Given the description of an element on the screen output the (x, y) to click on. 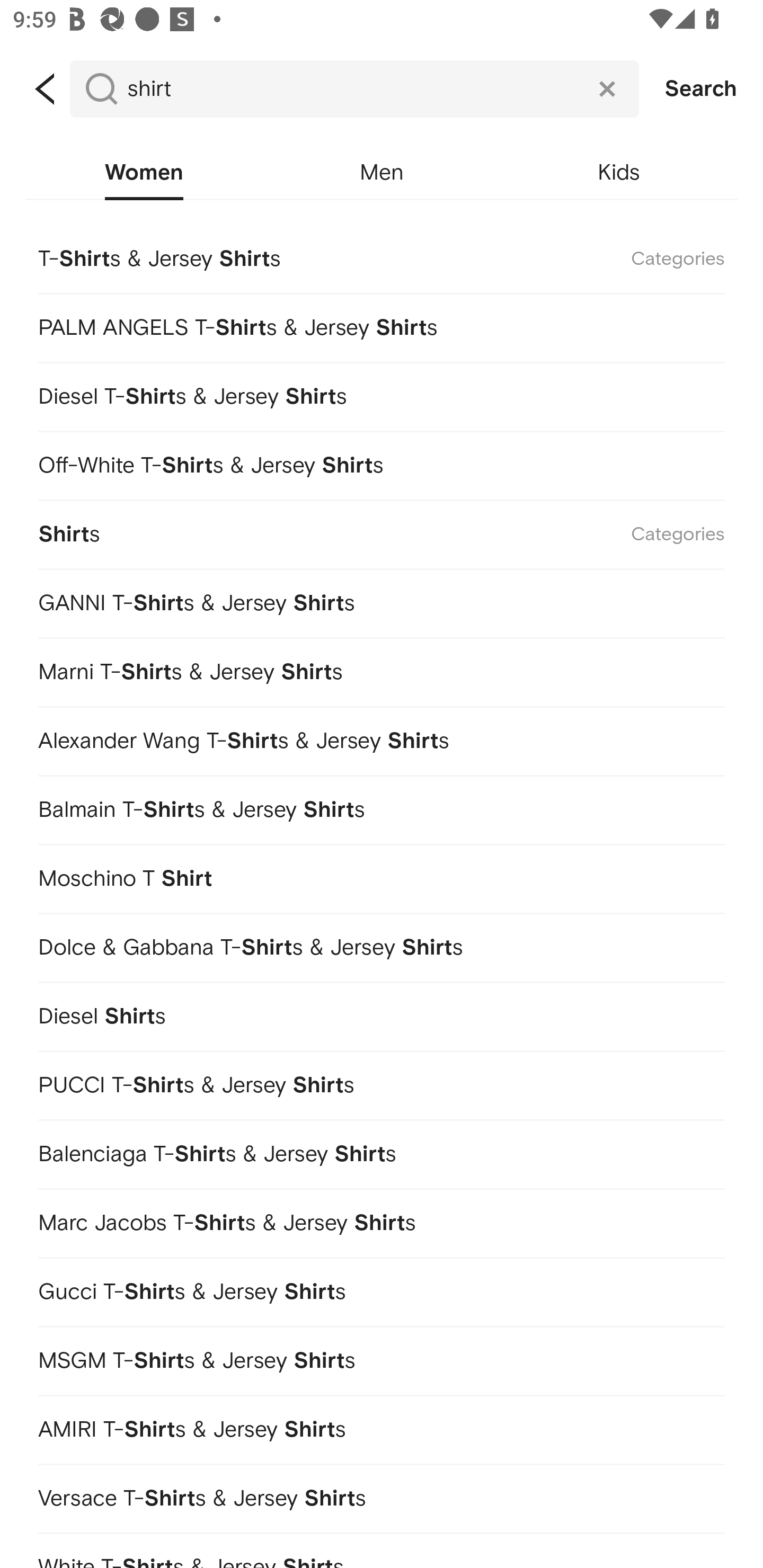
shirt (354, 89)
Search (701, 89)
Men (381, 172)
Kids (618, 172)
T-Shirts & Jersey Shirts Categories (381, 257)
PALM ANGELS T-Shirts & Jersey Shirts (381, 324)
Diesel T-Shirts & Jersey Shirts (381, 393)
Off-White T-Shirts & Jersey Shirts (381, 462)
Shirts Categories (381, 531)
GANNI T-Shirts & Jersey Shirts (381, 600)
Marni T-Shirts & Jersey Shirts (381, 669)
Alexander Wang T-Shirts & Jersey Shirts (381, 738)
Balmain T-Shirts & Jersey Shirts (381, 806)
Moschino T Shirt (381, 874)
Dolce & Gabbana T-Shirts & Jersey Shirts (381, 943)
Diesel Shirts (381, 1012)
PUCCI T-Shirts & Jersey Shirts (381, 1081)
Balenciaga T-Shirts & Jersey Shirts (381, 1150)
Marc Jacobs T-Shirts & Jersey Shirts (381, 1219)
Gucci T-Shirts & Jersey Shirts (381, 1288)
MSGM T-Shirts & Jersey Shirts (381, 1357)
AMIRI T-Shirts & Jersey Shirts (381, 1426)
Versace T-Shirts & Jersey Shirts (381, 1495)
